Given the description of an element on the screen output the (x, y) to click on. 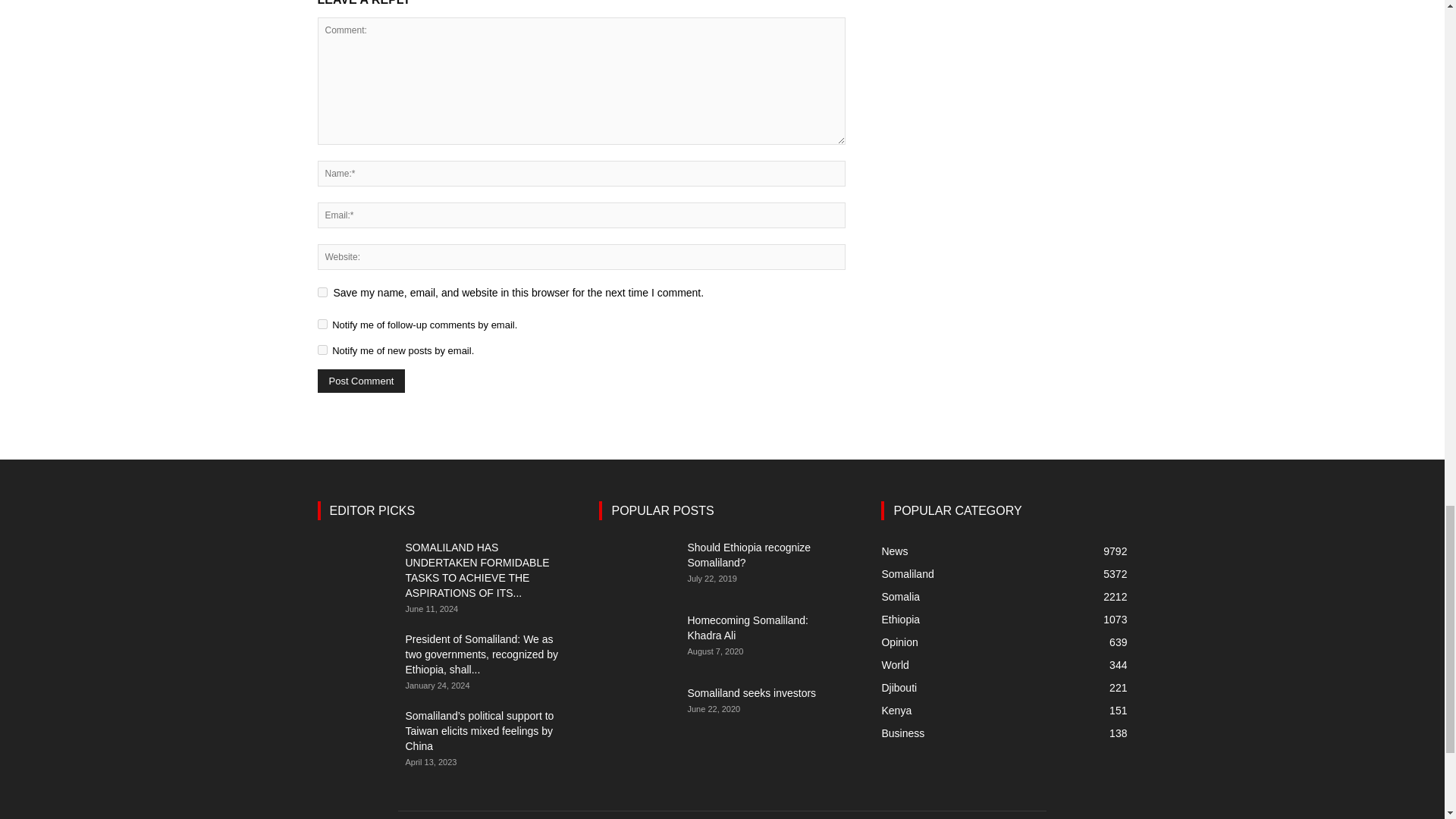
Post Comment (360, 381)
subscribe (321, 324)
yes (321, 292)
subscribe (321, 349)
